Given the description of an element on the screen output the (x, y) to click on. 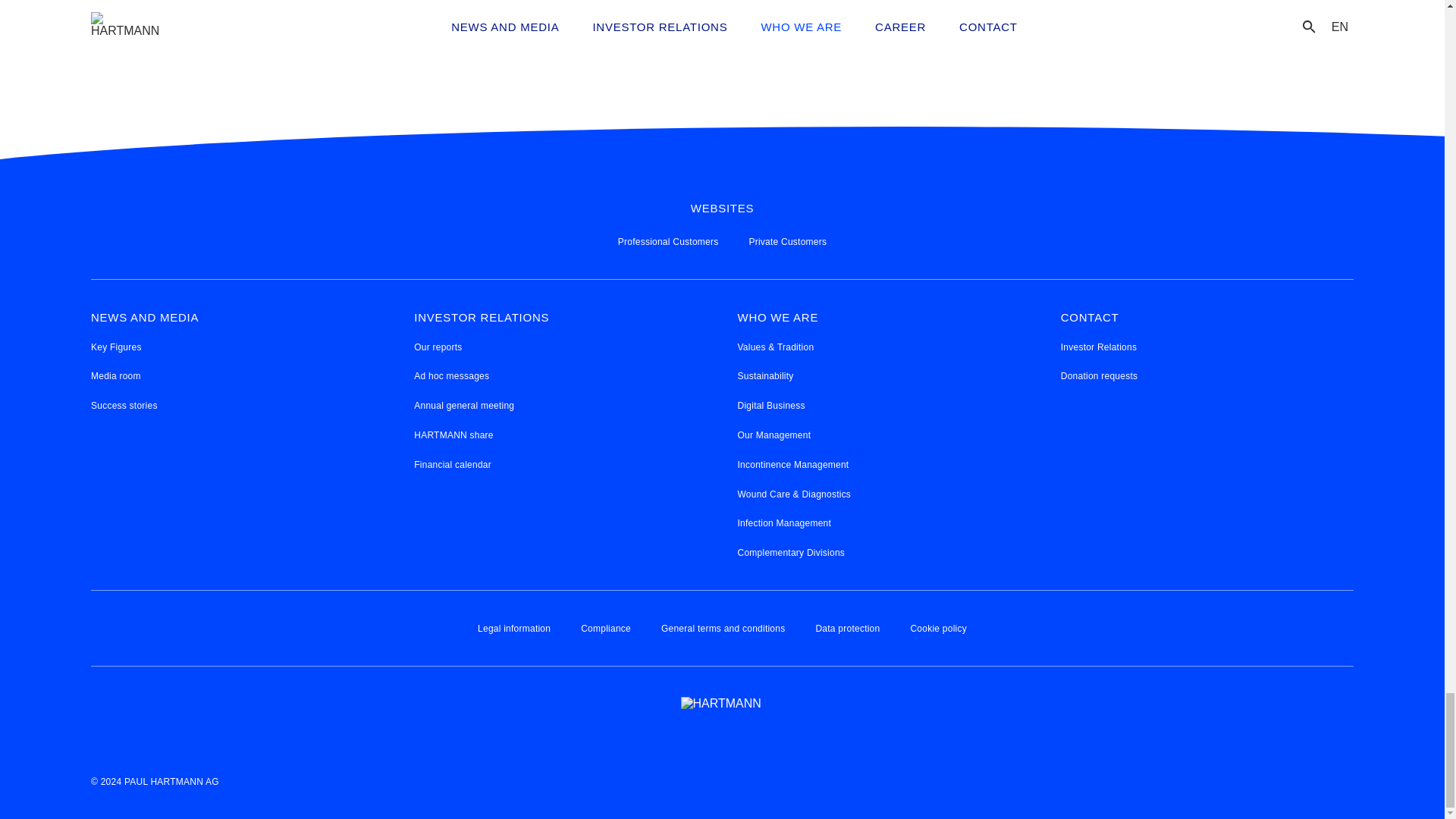
Media room (115, 376)
Investor Relations (1099, 347)
Key Figures (115, 347)
Annual general meeting (463, 405)
Complementary Divisions (790, 553)
Our reports (437, 347)
Professional Customers (668, 241)
HARTMANN share (453, 435)
Private Customers (787, 241)
Sustainability (764, 376)
Success stories (123, 405)
Our Management (773, 435)
Infection Management (783, 522)
Incontinence Management (792, 464)
Financial calendar (452, 464)
